Given the description of an element on the screen output the (x, y) to click on. 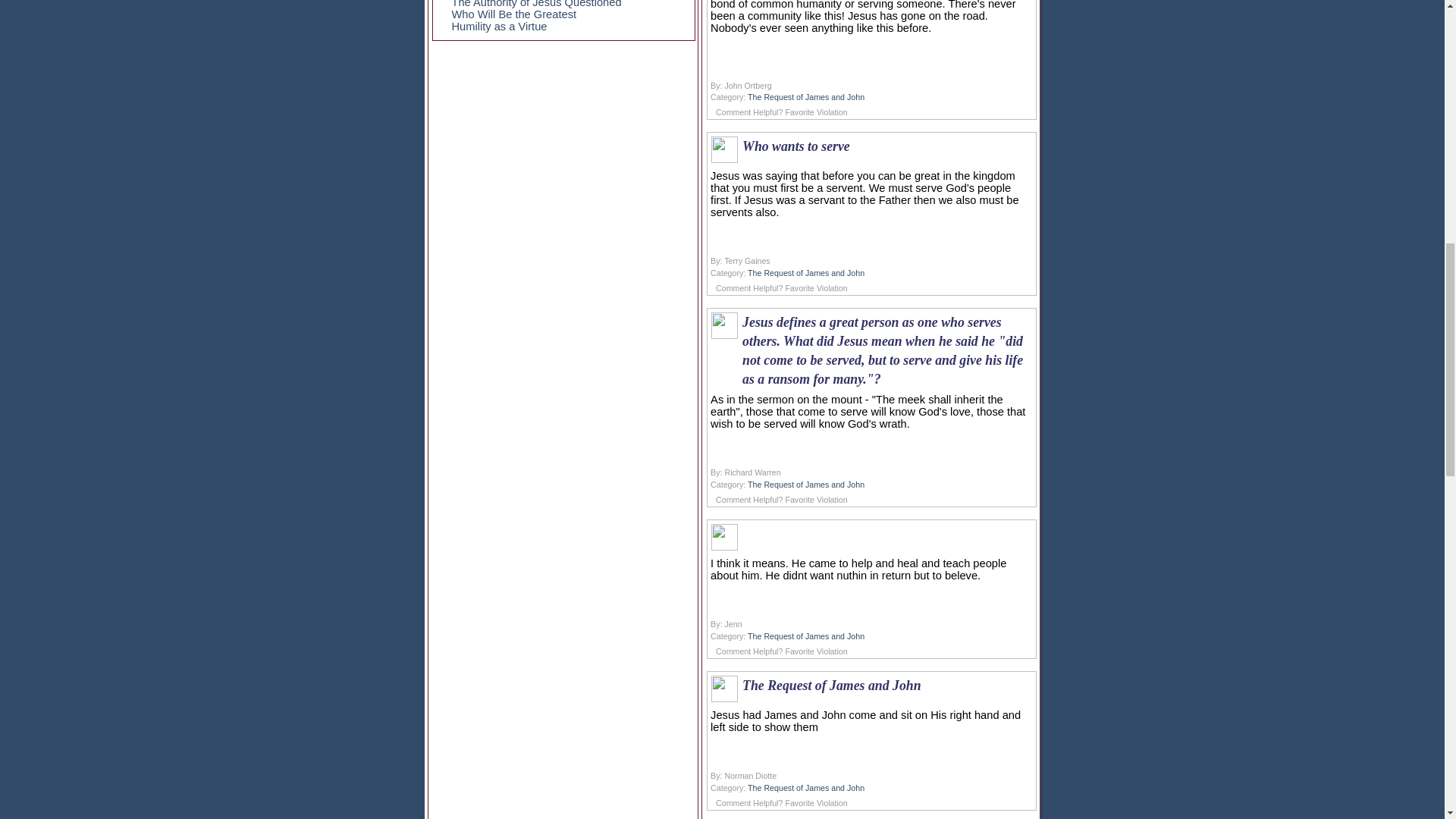
The Request of James and John (806, 96)
The Request of James and John (806, 787)
The Request of James and John (806, 483)
The Request of James and John (806, 272)
The Request of James and John (806, 635)
